Given the description of an element on the screen output the (x, y) to click on. 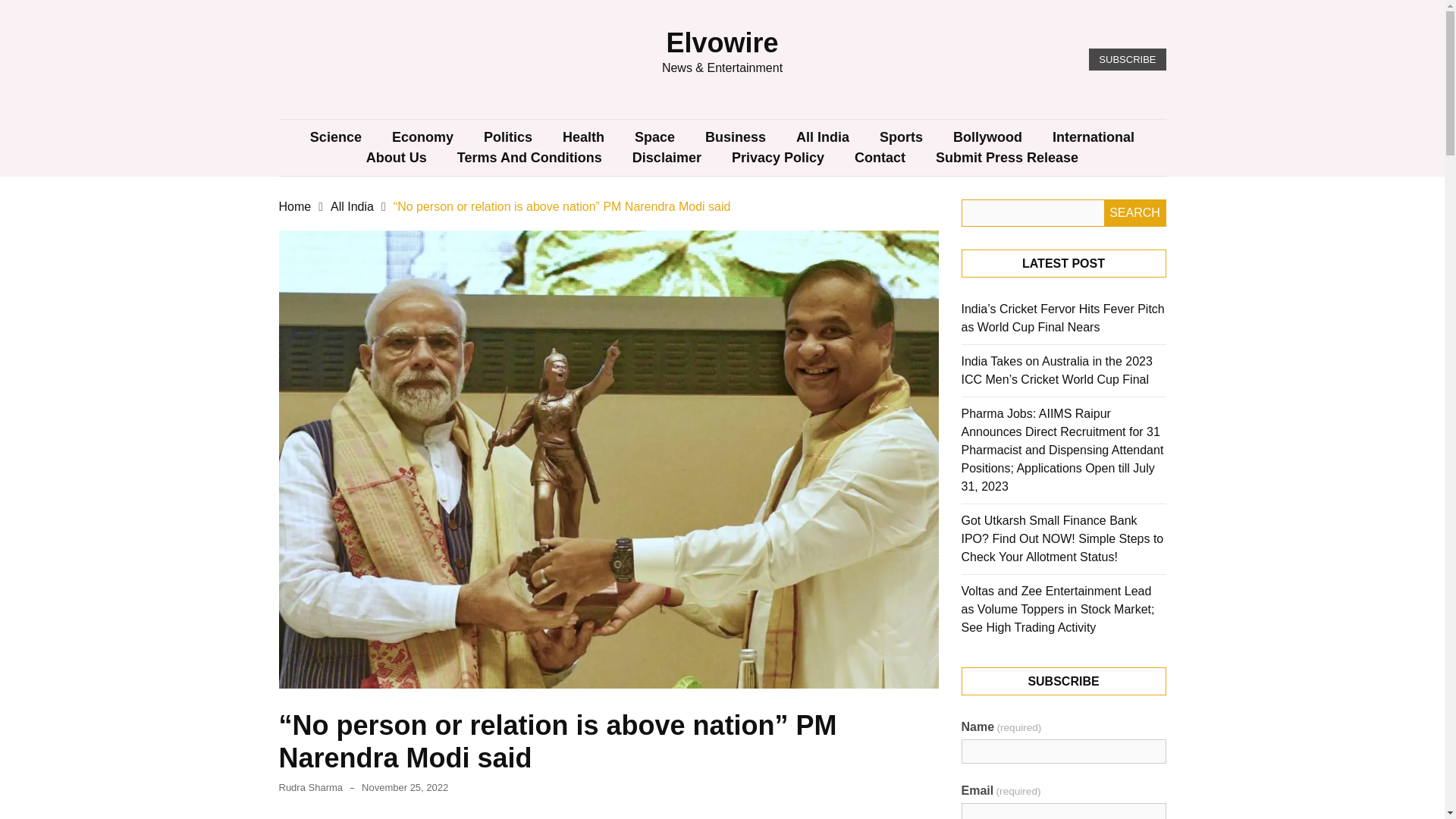
All India (822, 137)
Home (295, 205)
About Us (396, 158)
Space (655, 137)
Business (735, 137)
Submit Press Release (1006, 158)
Contact (880, 158)
Disclaimer (666, 158)
Privacy Policy (778, 158)
Elvowire (721, 42)
